Given the description of an element on the screen output the (x, y) to click on. 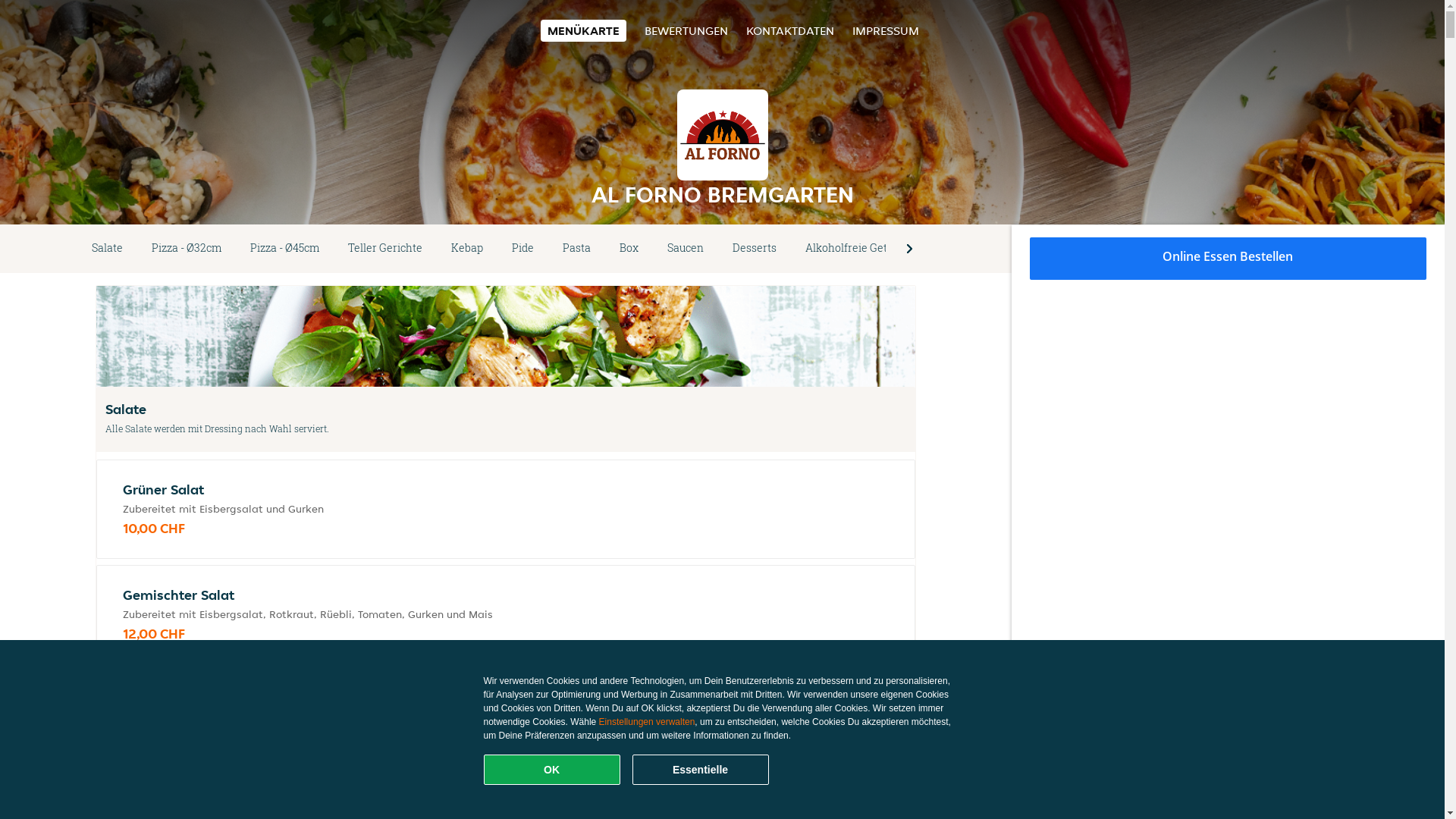
Online Essen Bestellen Element type: text (1228, 258)
Teller Gerichte Element type: text (384, 248)
Pasta Element type: text (576, 248)
Salate Element type: text (107, 248)
Einstellungen verwalten Element type: text (647, 721)
Kebap Element type: text (466, 248)
BEWERTUNGEN Element type: text (686, 30)
IMPRESSUM Element type: text (885, 30)
Essentielle Element type: text (700, 769)
KONTAKTDATEN Element type: text (790, 30)
Pide Element type: text (522, 248)
OK Element type: text (551, 769)
Desserts Element type: text (754, 248)
Box Element type: text (628, 248)
Saucen Element type: text (685, 248)
